Given the description of an element on the screen output the (x, y) to click on. 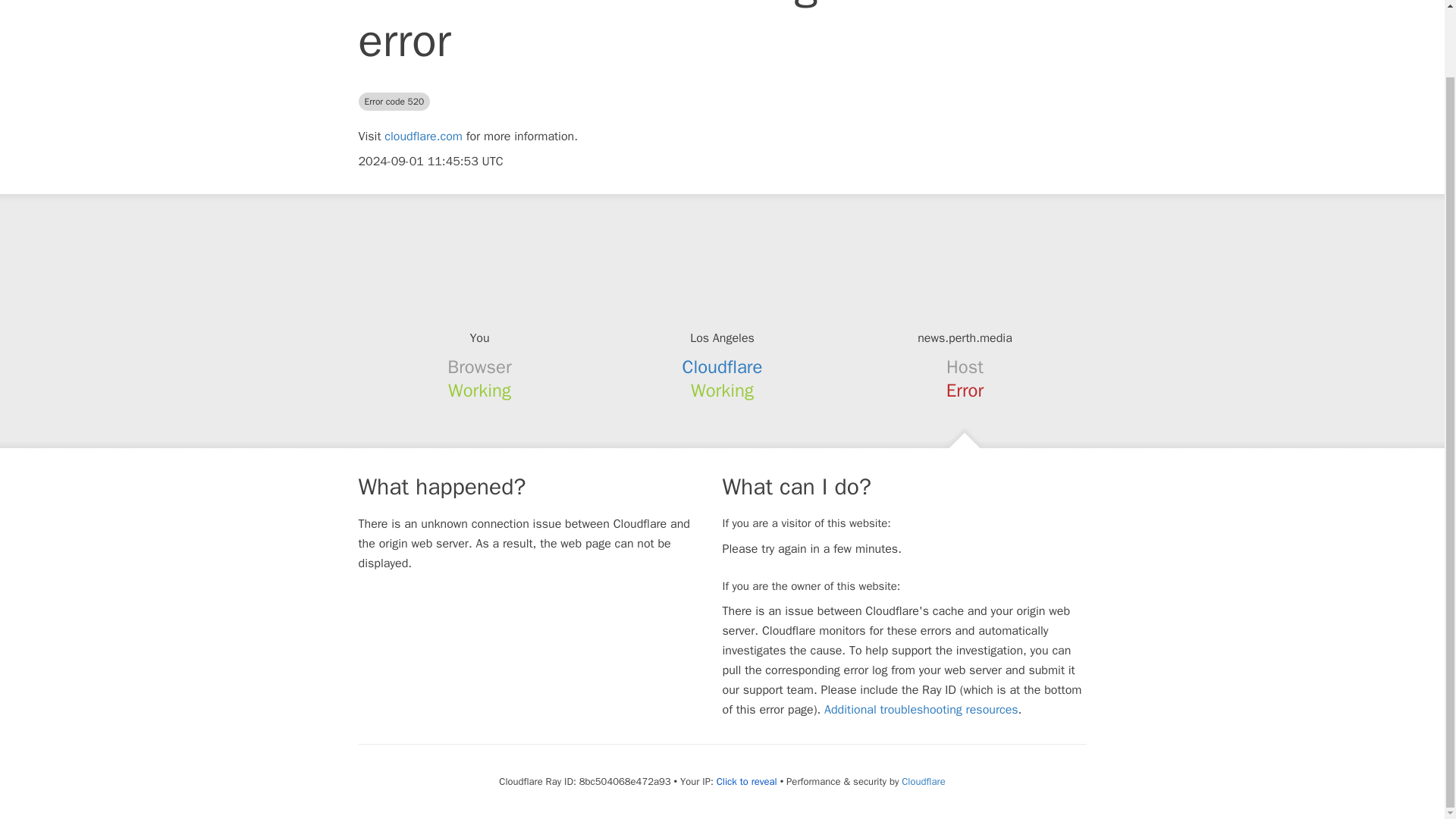
Cloudflare (722, 366)
Cloudflare (922, 780)
Click to reveal (746, 781)
Additional troubleshooting resources (920, 709)
cloudflare.com (423, 136)
